Given the description of an element on the screen output the (x, y) to click on. 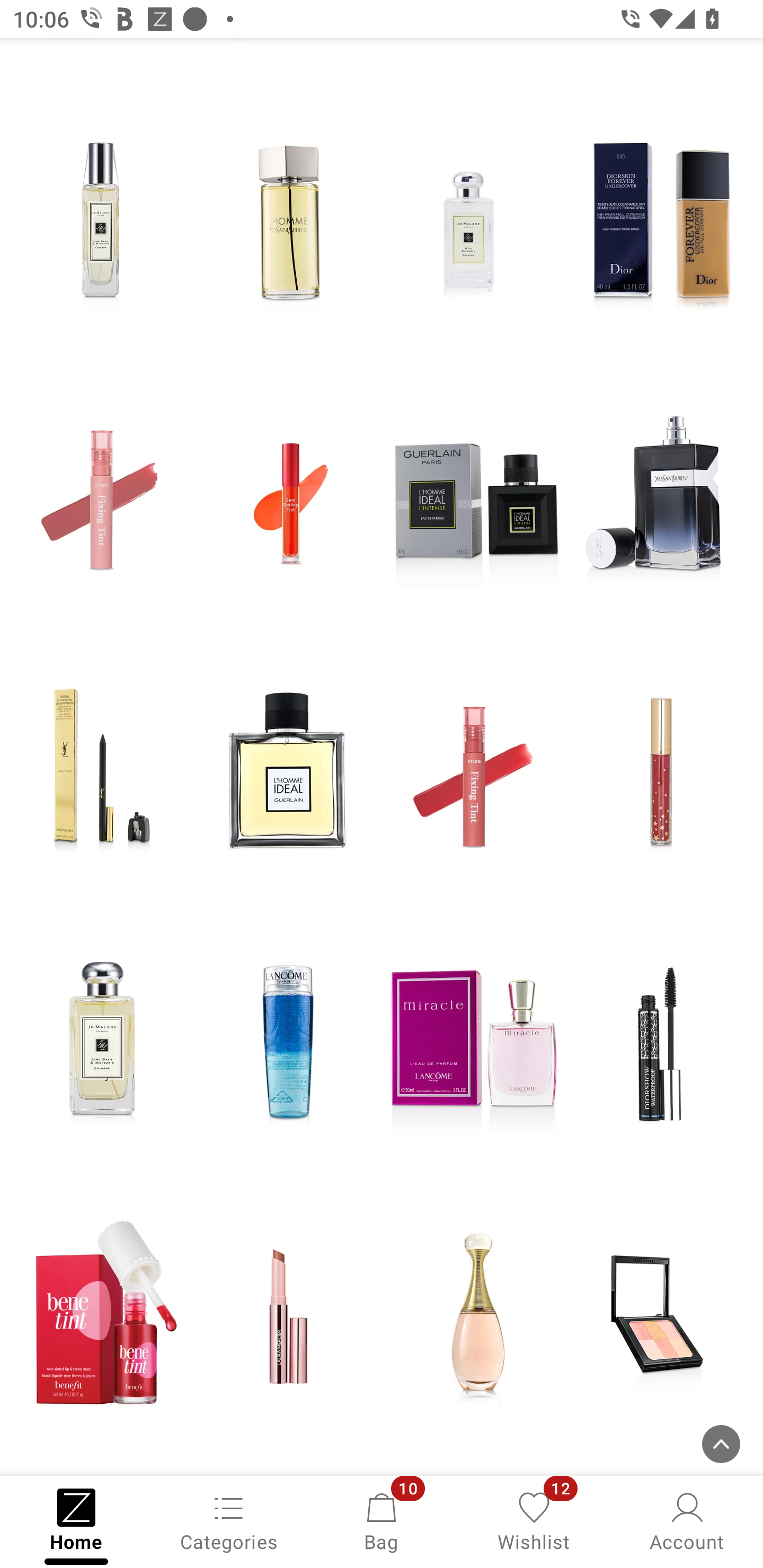
Categories (228, 1519)
Bag, 10 new notifications Bag (381, 1519)
Wishlist, 12 new notifications Wishlist (533, 1519)
Account (686, 1519)
